Given the description of an element on the screen output the (x, y) to click on. 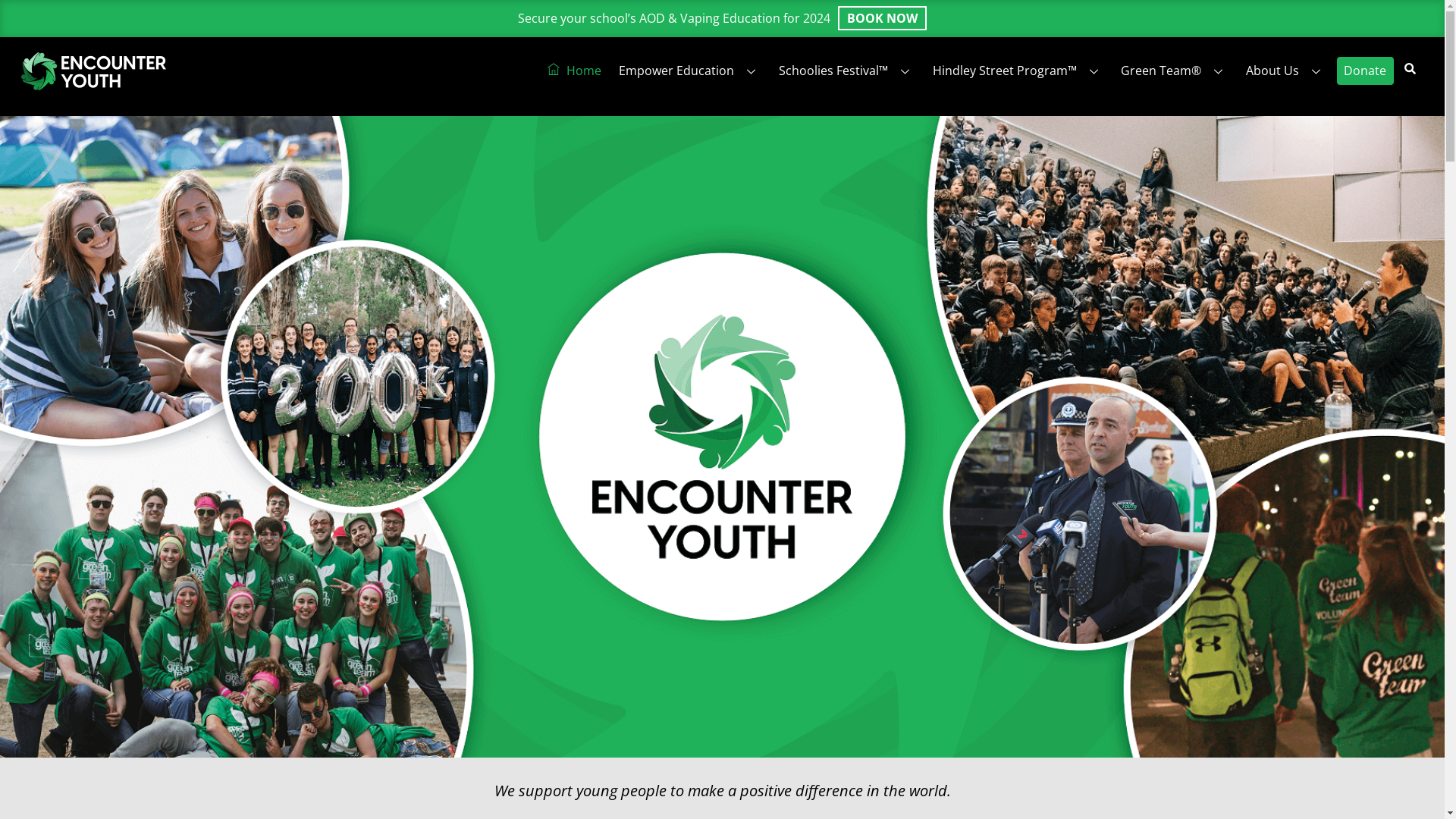
BOOK NOW Element type: text (881, 18)
Empower Education Element type: text (689, 70)
Home Element type: text (574, 70)
About Us Element type: text (1285, 70)
Search Element type: text (1409, 66)
Donate Element type: text (1365, 70)
